Given the description of an element on the screen output the (x, y) to click on. 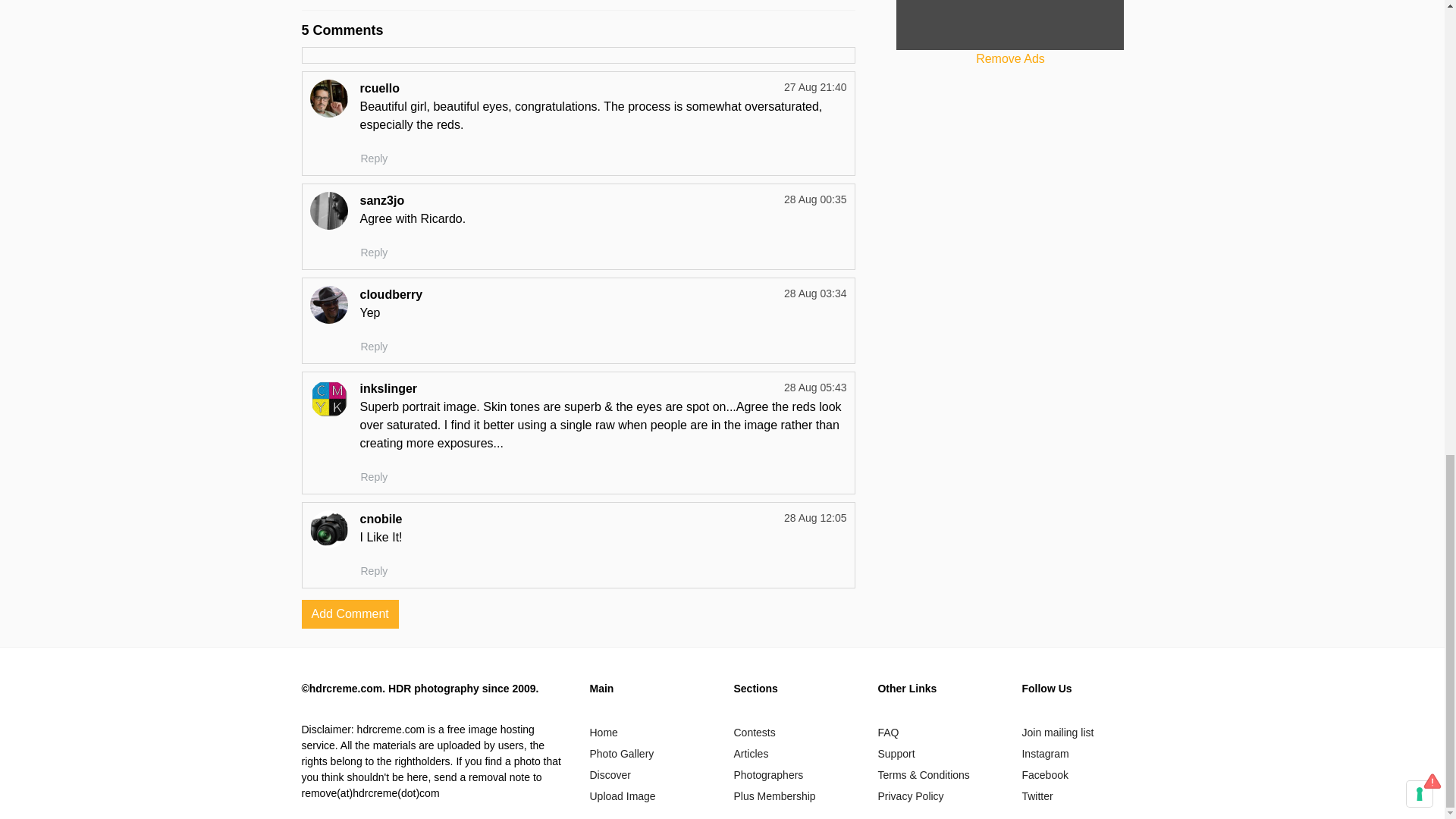
Photo Gallery (621, 753)
Upload Image (622, 796)
Reply (373, 252)
Remove Ads (1010, 58)
August 28, 2012 00:35 (815, 199)
Reply (373, 346)
Home (603, 732)
Reply (373, 477)
August 28, 2012 03:34 (815, 293)
Add Comment (349, 613)
Reply (373, 570)
August 27, 2012 21:40 (815, 87)
Discover (609, 775)
Reply (373, 158)
